Given the description of an element on the screen output the (x, y) to click on. 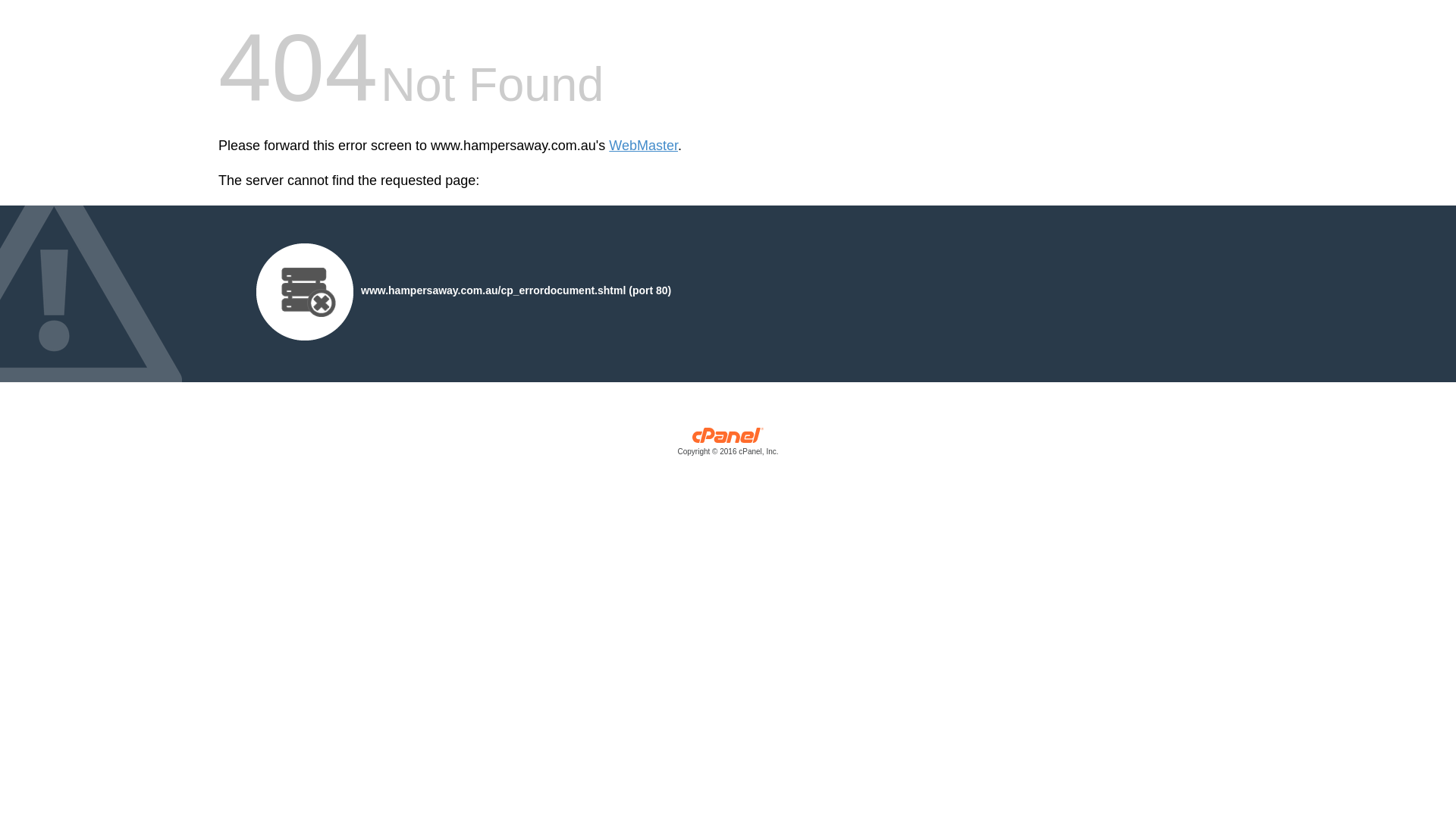
WebMaster Element type: text (642, 145)
